Given the description of an element on the screen output the (x, y) to click on. 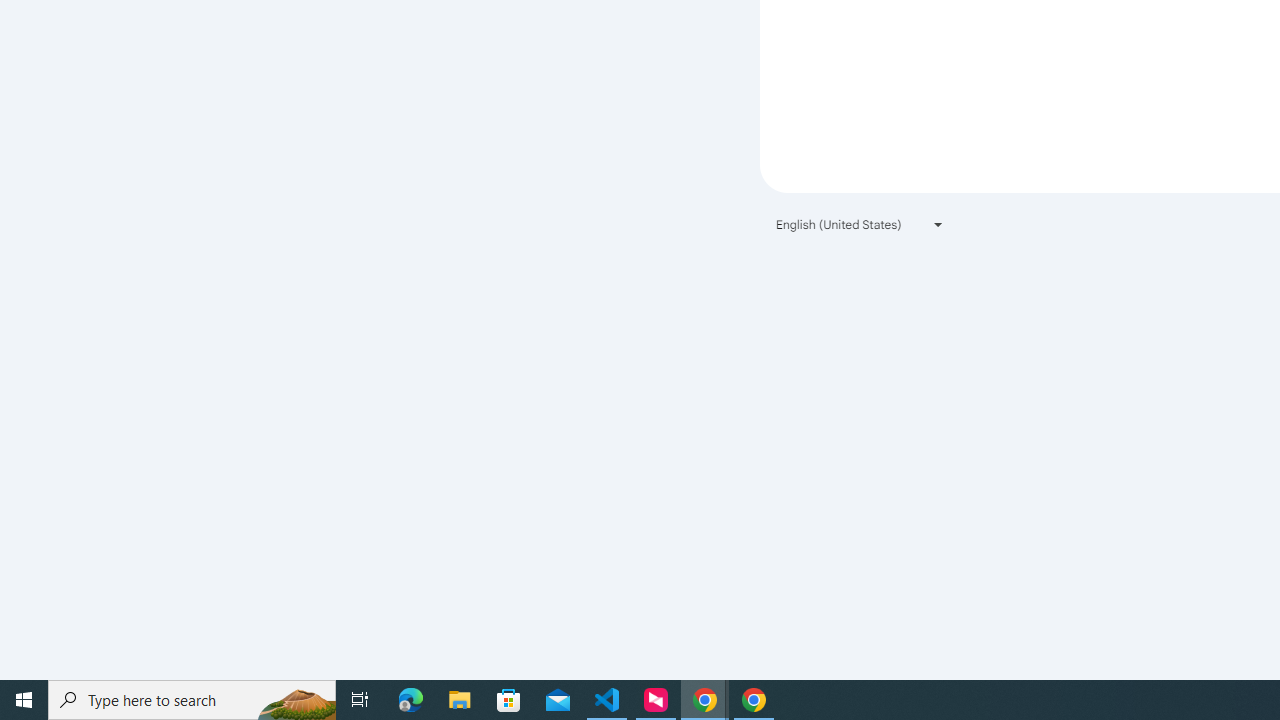
English (United States) (860, 224)
